Given the description of an element on the screen output the (x, y) to click on. 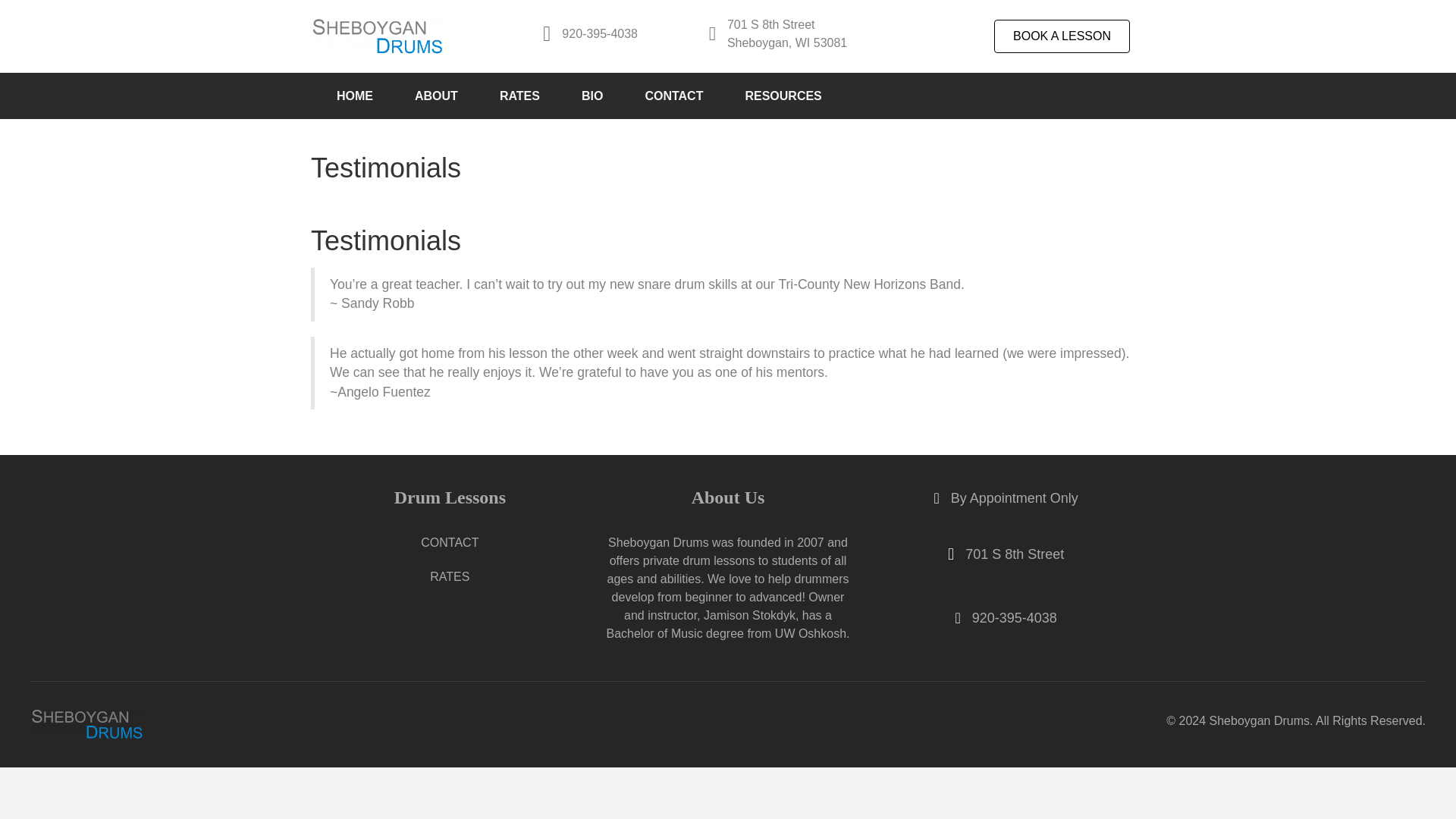
RATES (529, 95)
By Appointment Only (1014, 497)
Learning Resources (792, 95)
701 S 8th Street (1014, 554)
ABOUT (445, 95)
CONTACT (449, 542)
RESOURCES (792, 95)
BOOK A LESSON (1061, 36)
RATES (449, 576)
HOME (364, 95)
Sheboygan Drums Logo Stacked 2023 (87, 724)
Sheboygan Drums Logo Stacked 2023 (377, 35)
CONTACT (683, 95)
BIO (601, 95)
